Given the description of an element on the screen output the (x, y) to click on. 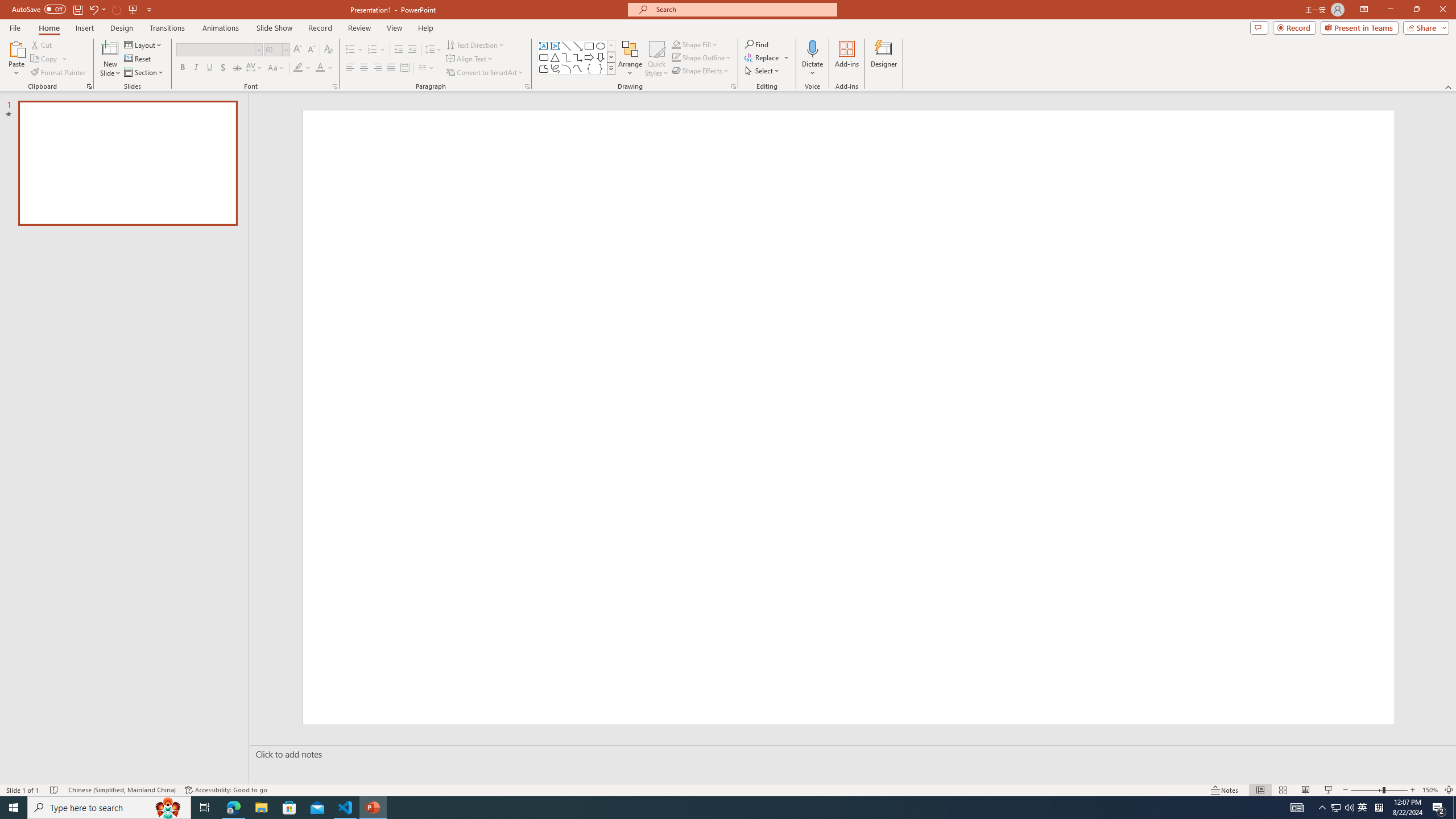
Font... (334, 85)
Font (219, 49)
Decrease Indent (398, 49)
Increase Font Size (297, 49)
Row Down (611, 56)
Copy (45, 58)
Rectangle (589, 45)
Quick Styles (656, 58)
Font Size (273, 49)
Dictate (812, 48)
Class: NetUIImage (610, 68)
